Given the description of an element on the screen output the (x, y) to click on. 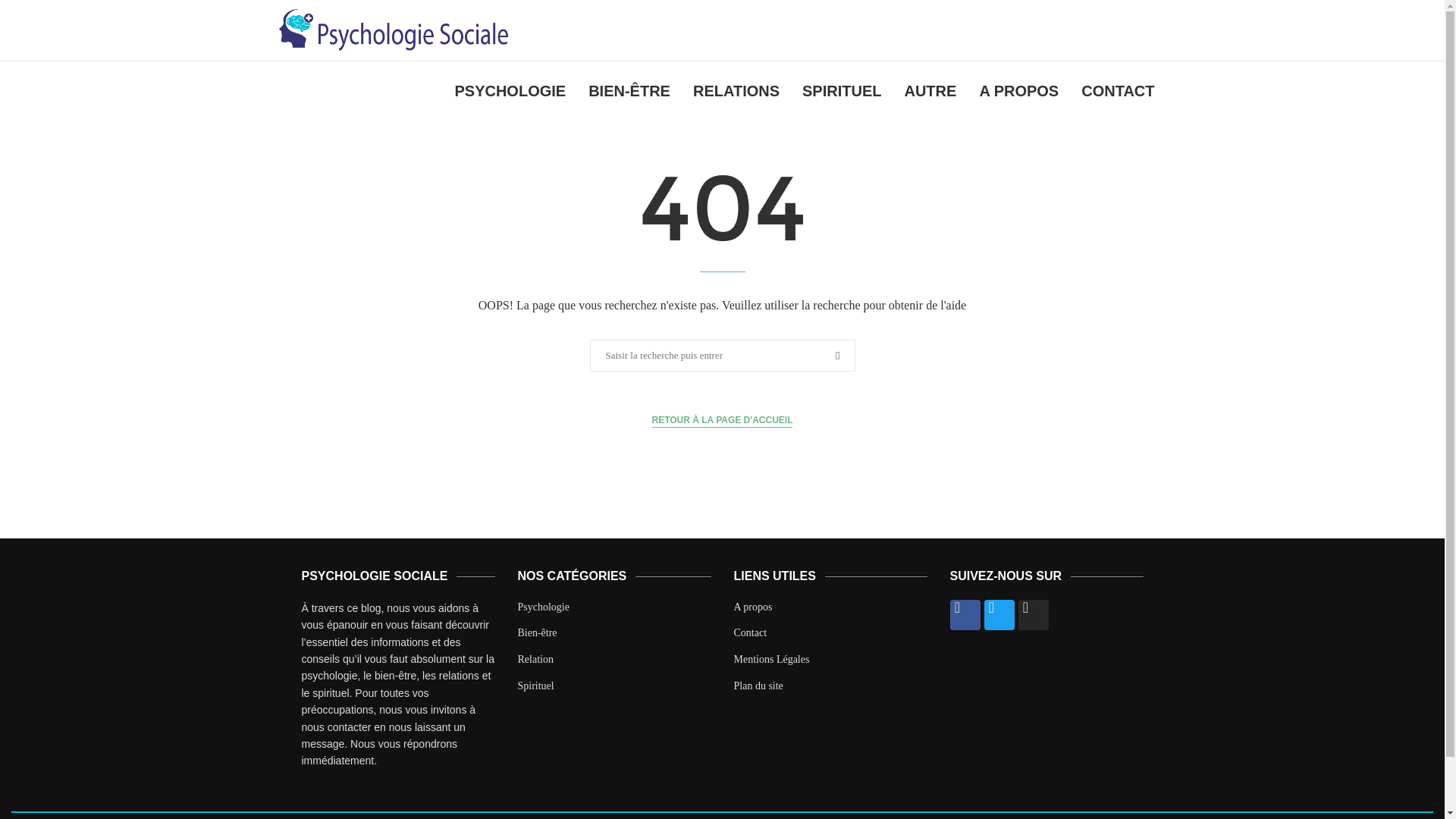
Plan du site (758, 685)
RELATIONS (735, 91)
Rechercher (27, 7)
SPIRITUEL (841, 91)
AUTRE (930, 91)
A propos (753, 607)
Contact (750, 632)
CONTACT (1118, 91)
Relation (534, 659)
A PROPOS (1019, 91)
